Given the description of an element on the screen output the (x, y) to click on. 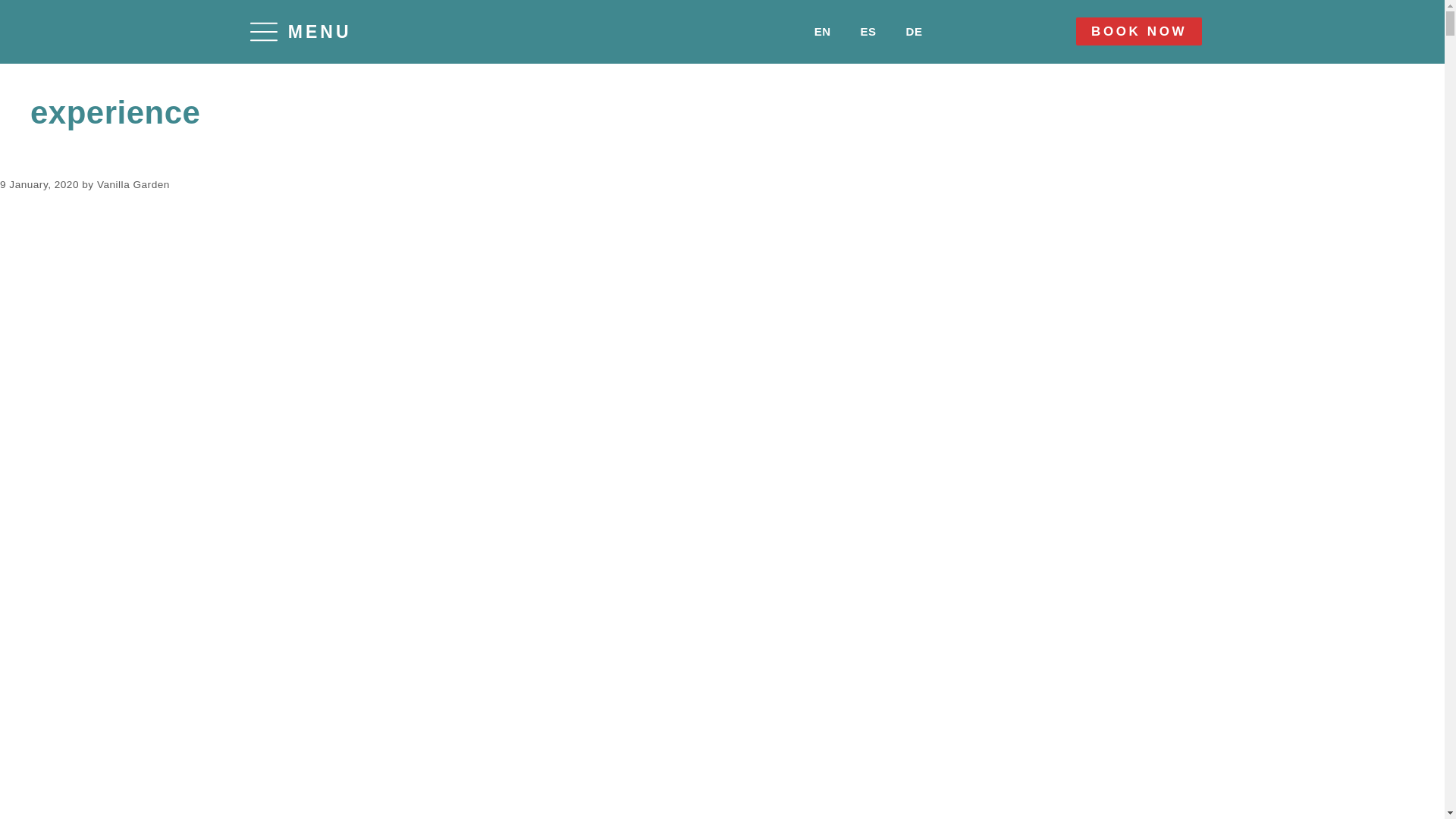
MENU (301, 31)
EN (813, 31)
ES (859, 31)
View all posts by Vanilla Garden (133, 184)
Vanilla Garden (504, 818)
BOOK NOW (1138, 31)
Vanilla Garden (133, 184)
DE (905, 31)
